Given the description of an element on the screen output the (x, y) to click on. 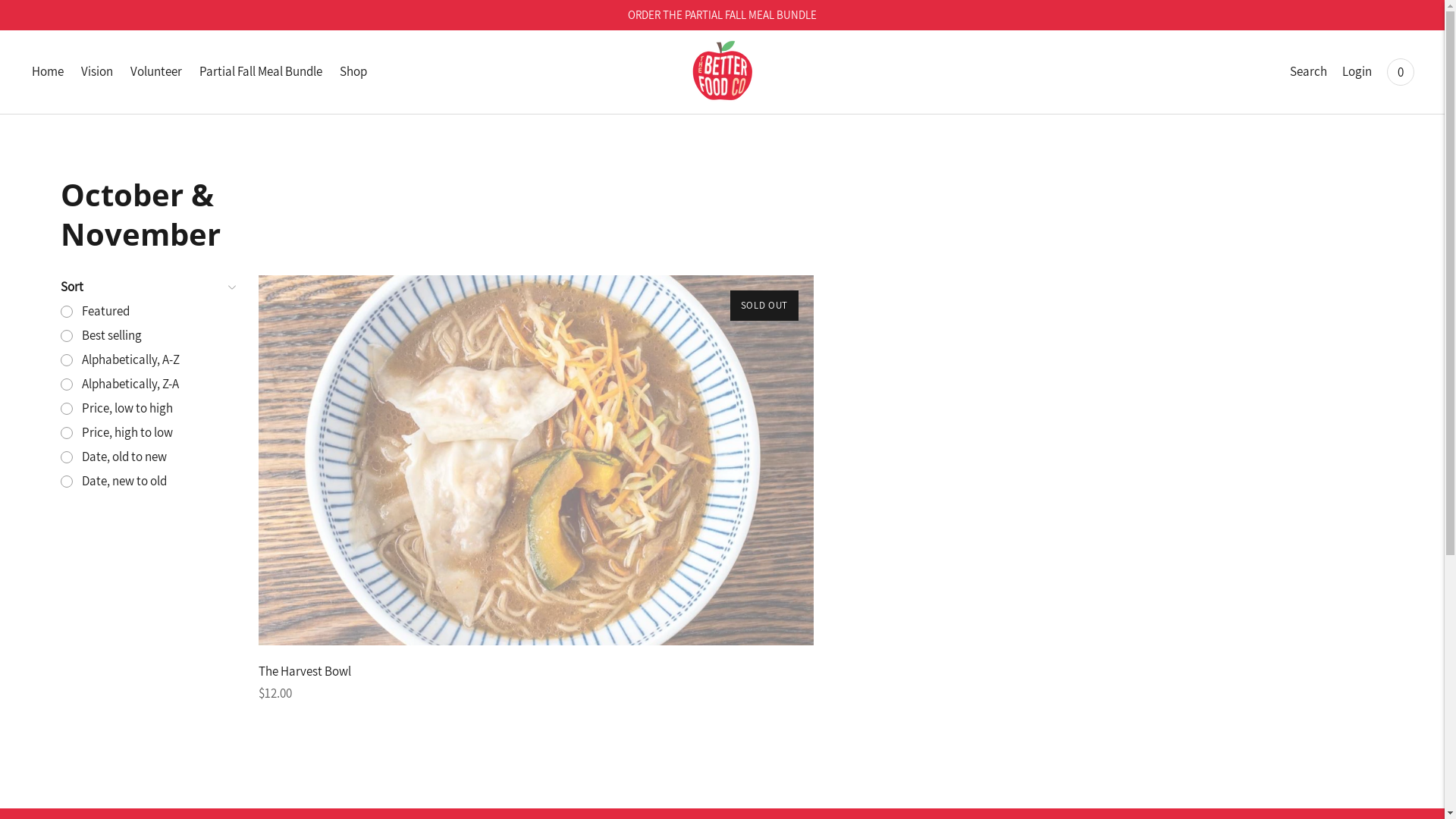
The Harvest Bowl Element type: text (304, 670)
Price, low to high Element type: text (147, 408)
Date, old to new Element type: text (147, 457)
Best selling Element type: text (147, 335)
0 Element type: text (1400, 71)
Login Element type: text (1356, 71)
Vision Element type: text (96, 71)
Price, high to low Element type: text (147, 432)
Home Element type: text (47, 71)
ORDER THE PARTIAL FALL MEAL BUNDLE Element type: text (721, 14)
Featured Element type: text (147, 311)
Sort Element type: text (147, 287)
Alphabetically, Z-A Element type: text (147, 384)
Search Element type: text (1308, 71)
Date, new to old Element type: text (147, 481)
Partial Fall Meal Bundle Element type: text (260, 71)
Volunteer Element type: text (156, 71)
Shop Element type: text (353, 71)
Alphabetically, A-Z Element type: text (147, 360)
